Given the description of an element on the screen output the (x, y) to click on. 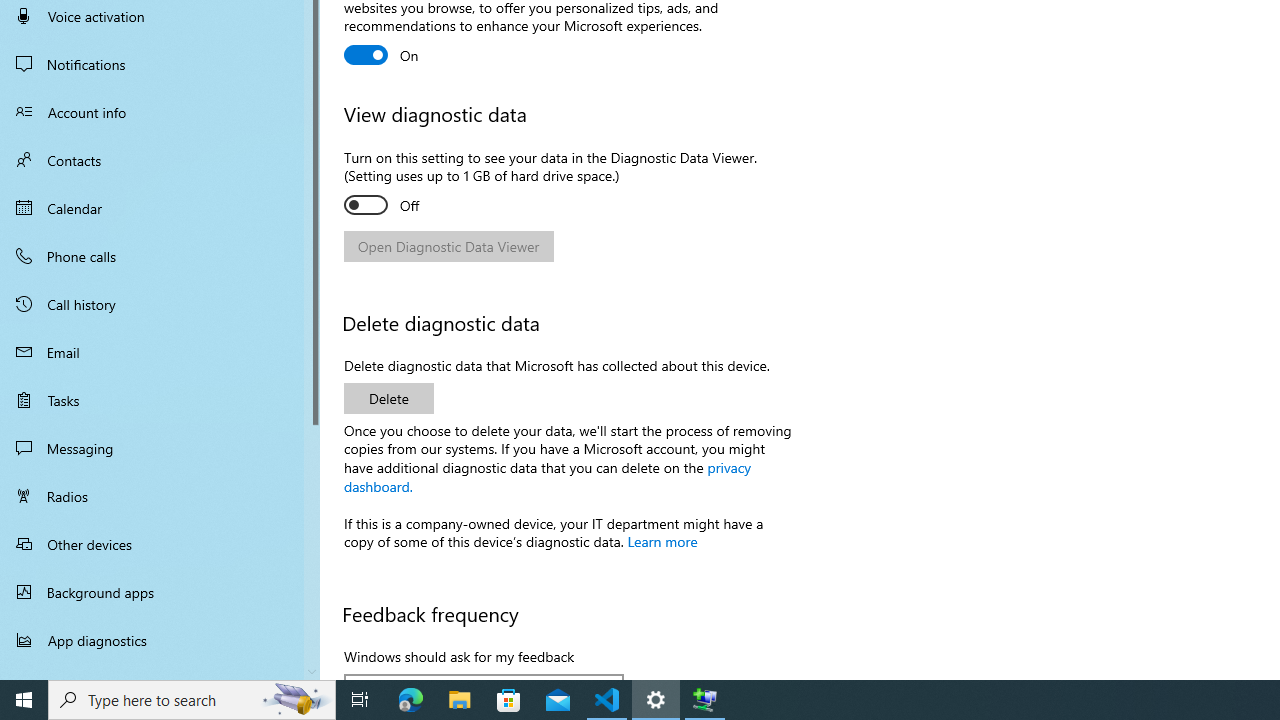
Email (160, 351)
Open Diagnostic Data Viewer (449, 246)
Background apps (160, 592)
Calendar (160, 207)
Messaging (160, 448)
Visual Studio Code - 1 running window (607, 699)
Task View (359, 699)
Search highlights icon opens search home window (295, 699)
Microsoft Store (509, 699)
Settings - 1 running window (656, 699)
Start (24, 699)
Windows should ask for my feedback (484, 676)
Notifications (160, 63)
Call history (160, 304)
Tasks (160, 399)
